Given the description of an element on the screen output the (x, y) to click on. 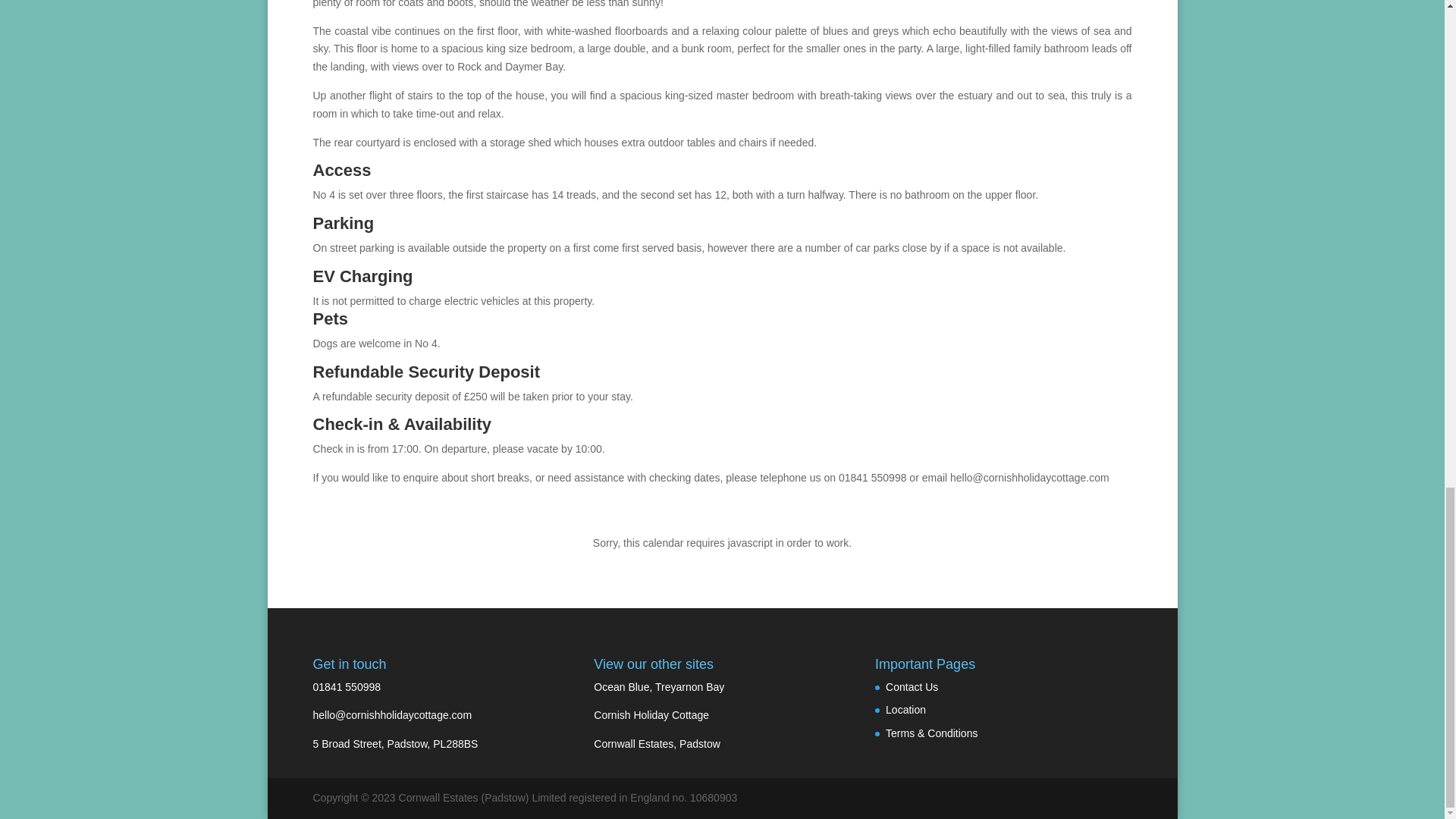
Location (905, 709)
Contact Us (911, 686)
Cornwall Estates, Padstow (657, 743)
Ocean Blue, Treyarnon Bay (658, 686)
Cornish Holiday Cottage (651, 715)
